Given the description of an element on the screen output the (x, y) to click on. 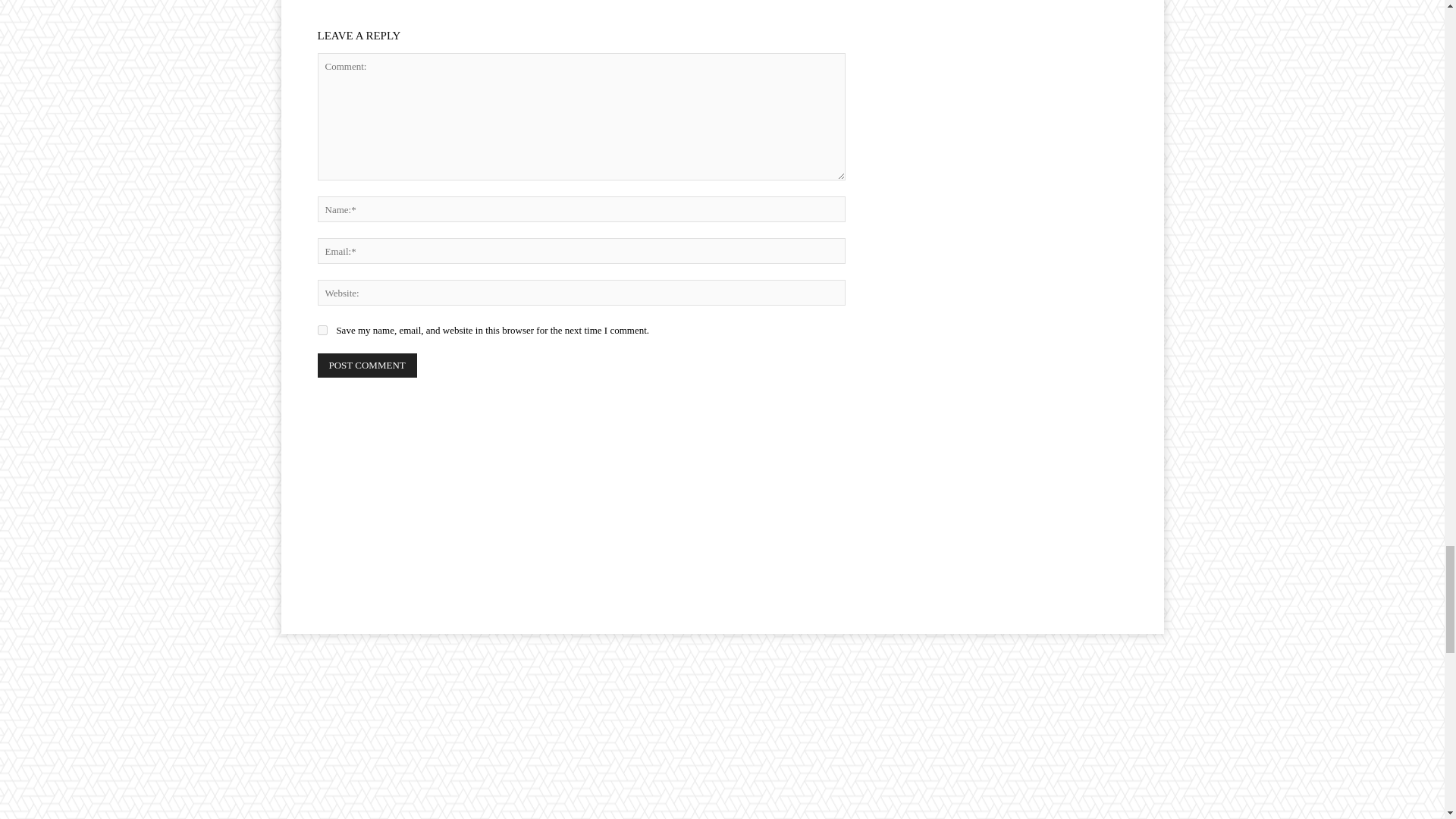
yes (321, 329)
Post Comment (366, 364)
